Given the description of an element on the screen output the (x, y) to click on. 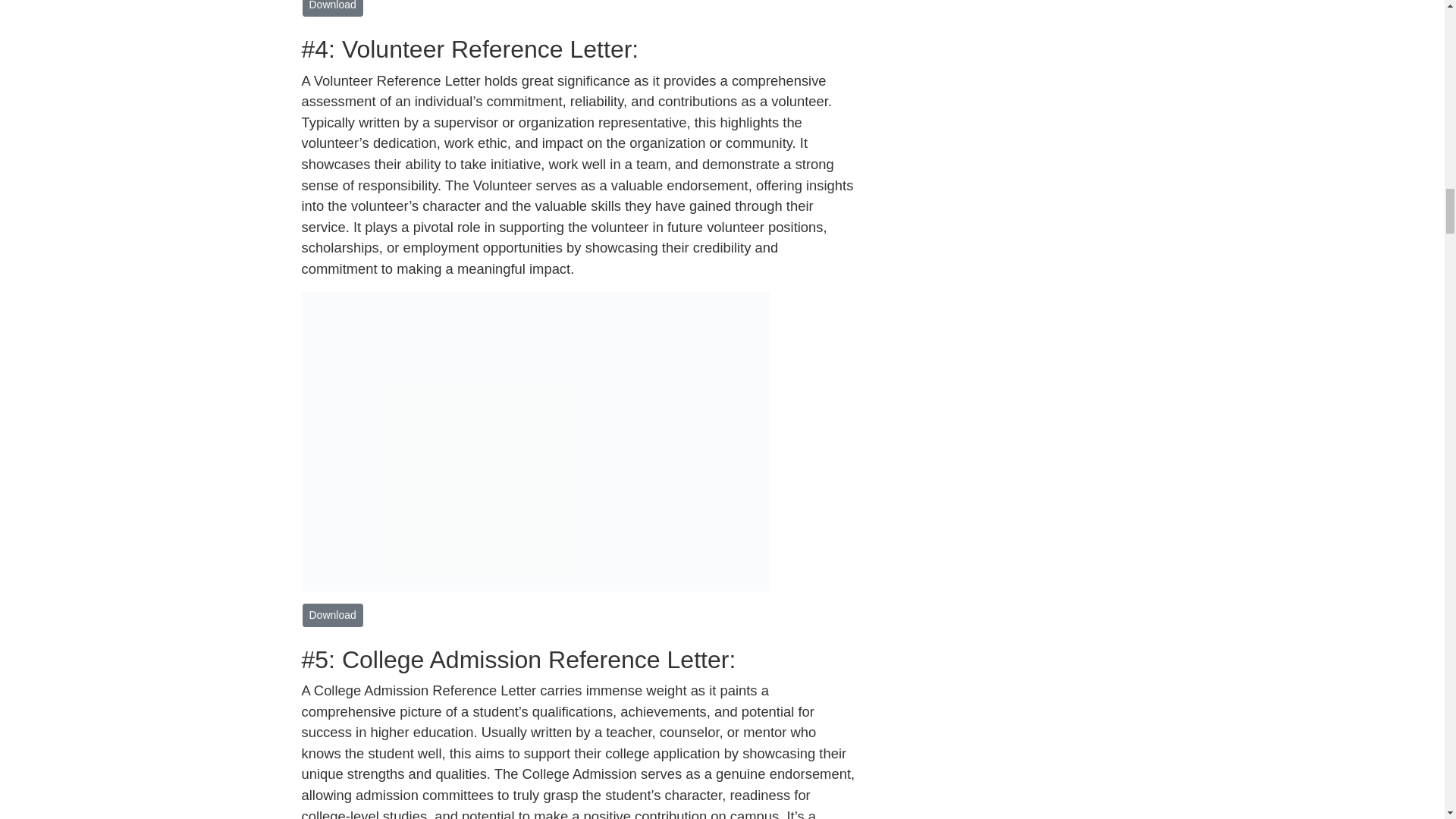
Download (331, 615)
Download (331, 8)
